Given the description of an element on the screen output the (x, y) to click on. 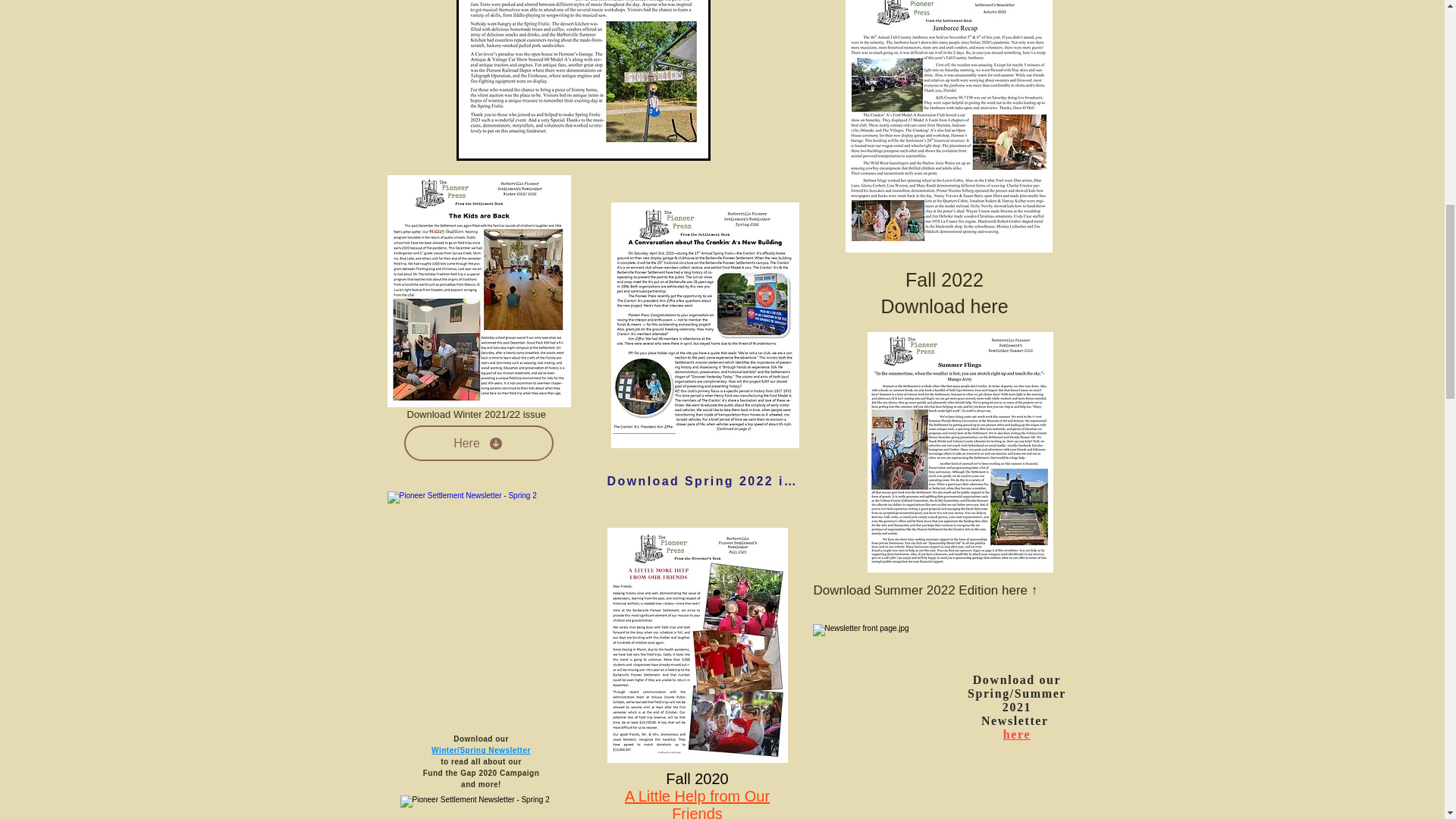
Download Spring 2022 issue here (704, 481)
Pioneer Settlement Newsletter - spring 2 (583, 80)
Here (478, 443)
here (1016, 734)
